Given the description of an element on the screen output the (x, y) to click on. 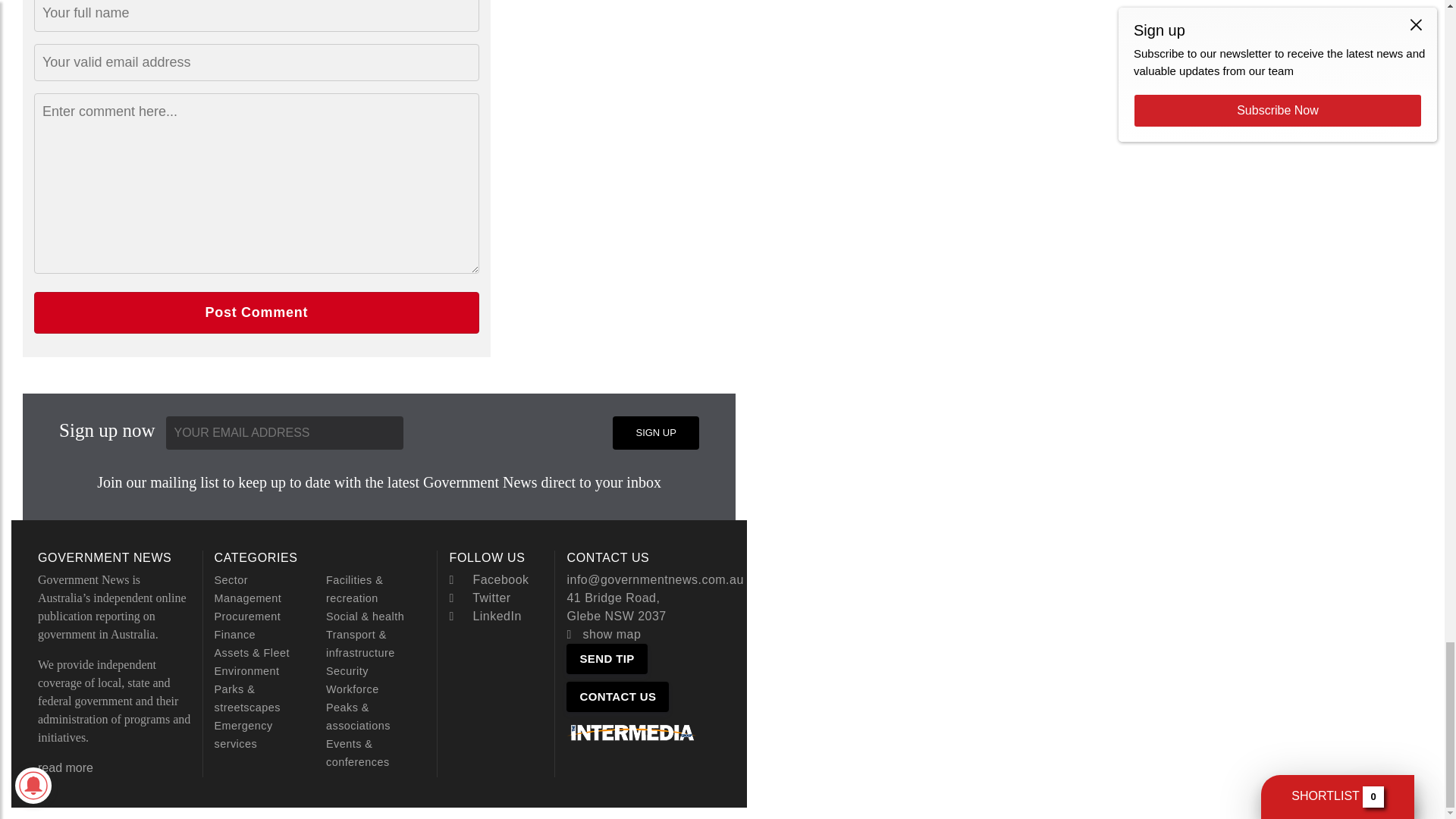
Post Comment (256, 312)
SIGN UP (655, 432)
